Given the description of an element on the screen output the (x, y) to click on. 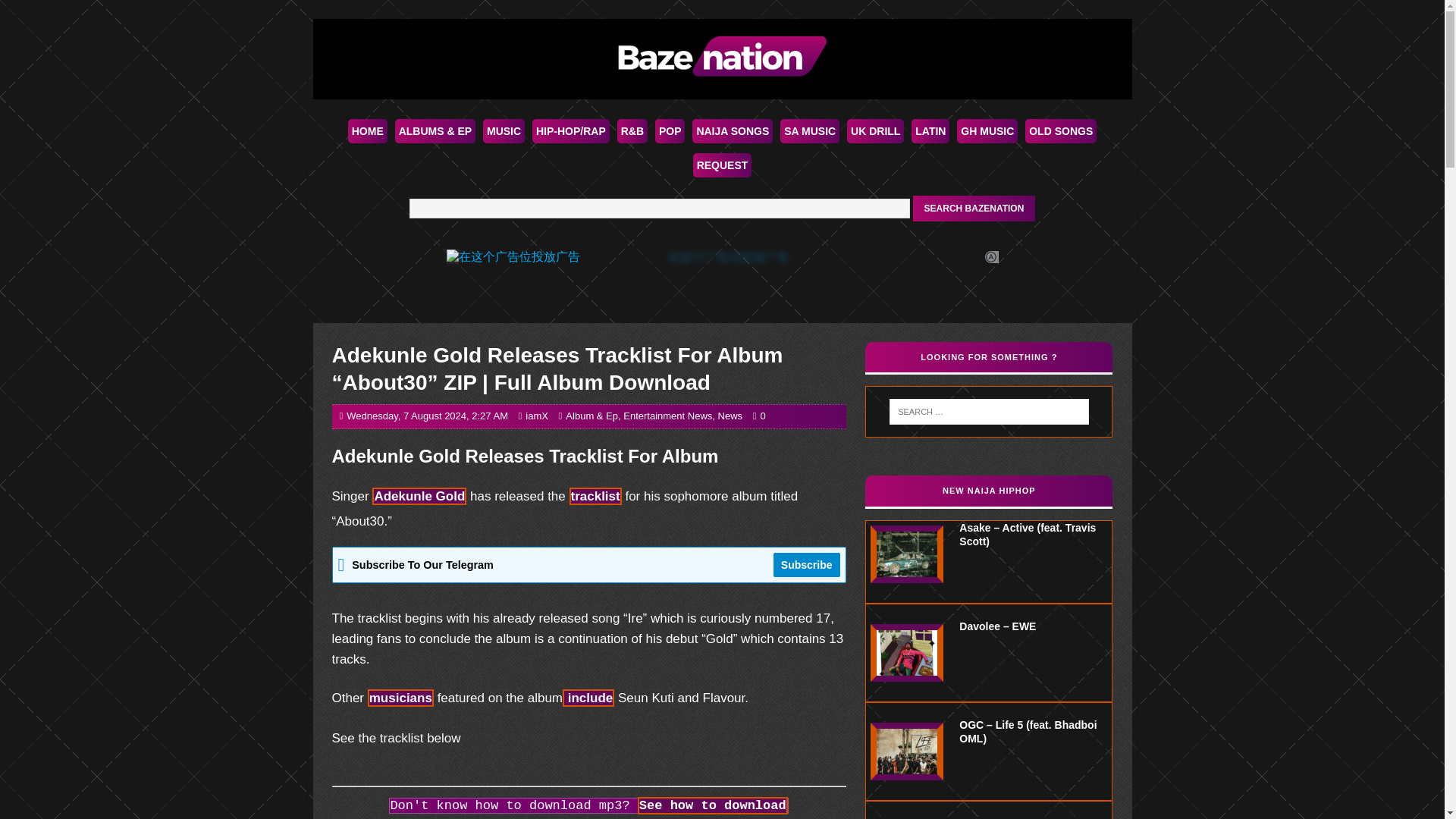
Search Bazenation (973, 208)
SA MUSIC (810, 130)
MUSIC (503, 130)
POP (670, 130)
NAIJA SONGS (733, 130)
HOME (367, 130)
